Given the description of an element on the screen output the (x, y) to click on. 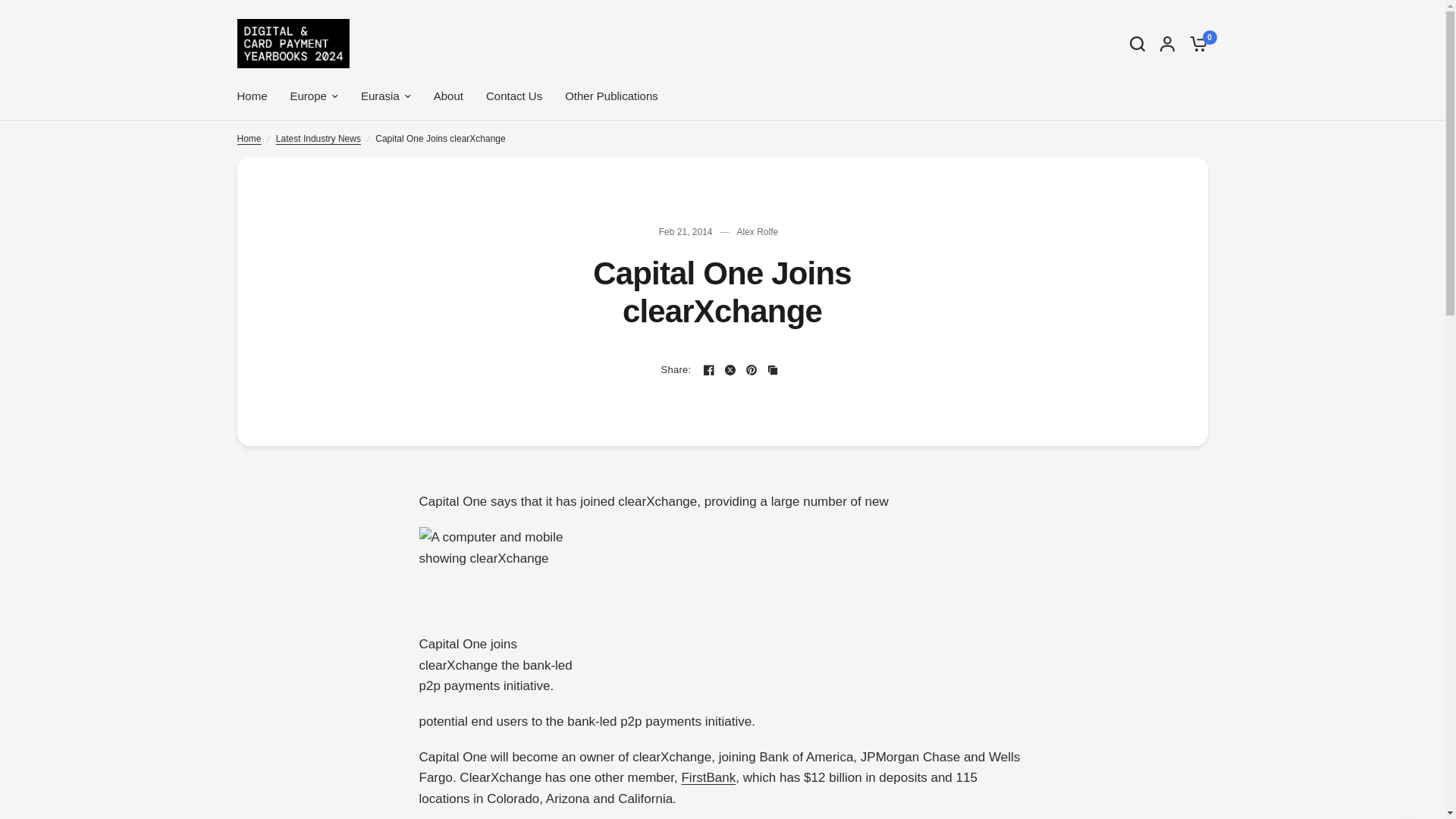
My Account (1167, 43)
Latest Industry News (318, 138)
Europe (313, 95)
Other Publications (611, 95)
Home (250, 95)
Search (1137, 43)
Eurasia (385, 95)
About (448, 95)
Contact Us (513, 95)
Home (247, 138)
0 (1193, 43)
